Given the description of an element on the screen output the (x, y) to click on. 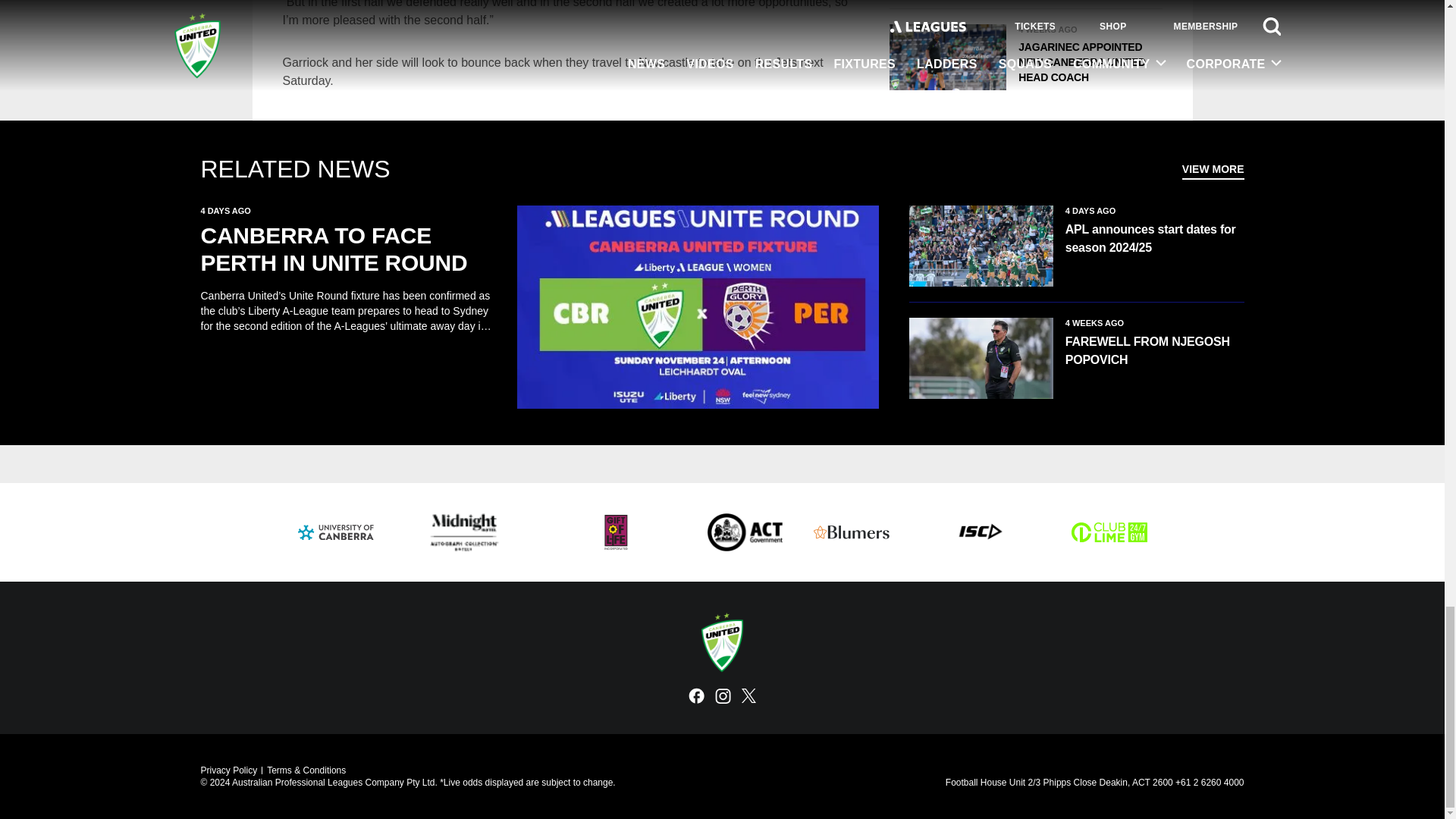
CBR (744, 532)
Midnight Hotel (463, 532)
University of Canberra (334, 532)
ISC Sport (979, 532)
Club Lime (1108, 532)
Blumers Lawyers (850, 531)
Gift of Life (615, 532)
